Given the description of an element on the screen output the (x, y) to click on. 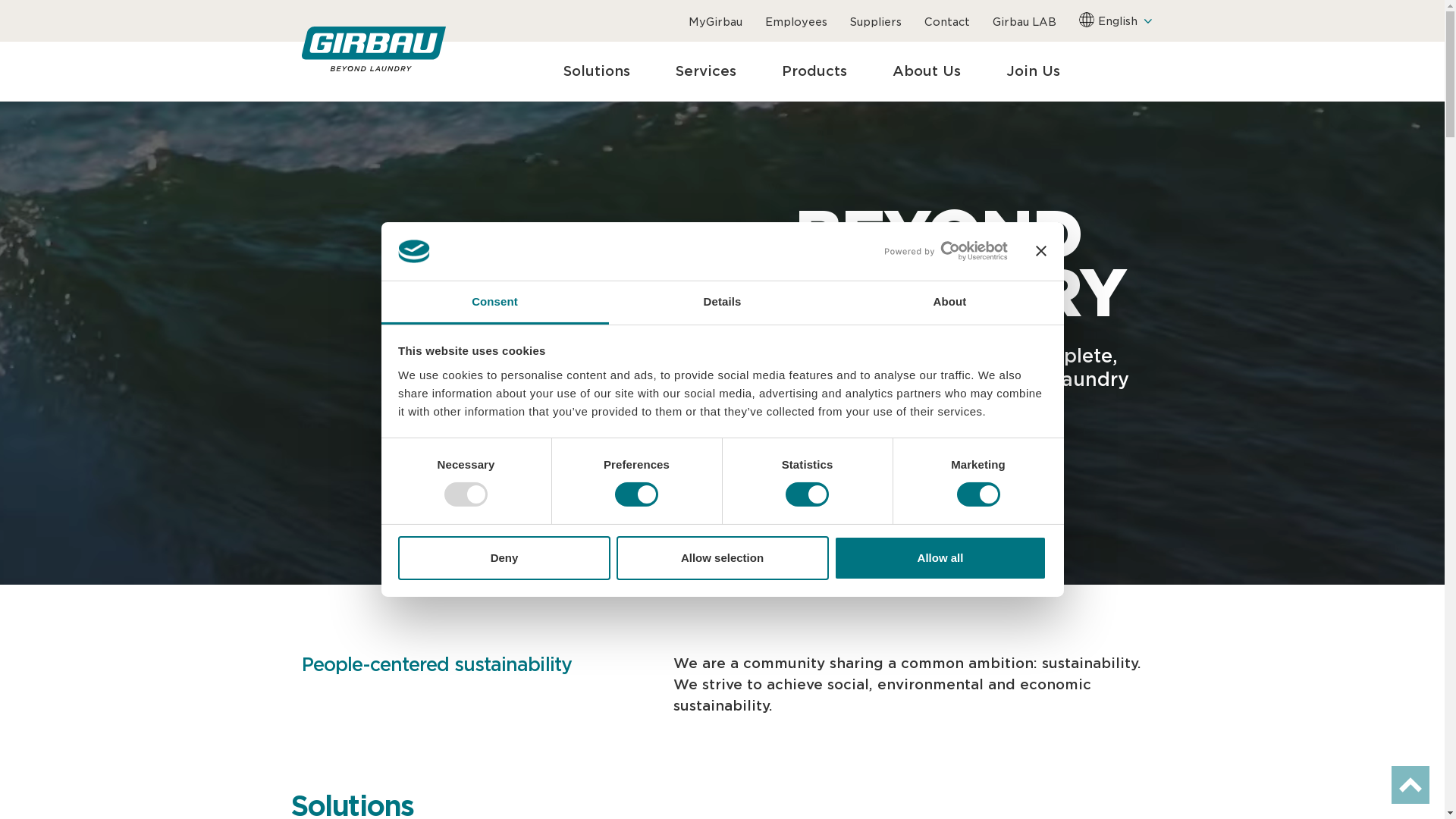
Products Element type: text (813, 70)
Suppliers Element type: text (874, 21)
English Element type: text (1125, 21)
Solutions Element type: text (595, 70)
About Element type: text (949, 302)
Employees Element type: text (795, 21)
Consent Element type: text (494, 302)
Details Element type: text (721, 302)
Allow all Element type: text (940, 558)
Deny Element type: text (504, 558)
Services Element type: text (705, 70)
Allow selection Element type: text (721, 558)
About Us Element type: text (925, 70)
English Element type: text (1085, 19)
Join Us Element type: text (1032, 70)
MyGirbau Element type: text (715, 21)
Contact Element type: text (946, 21)
Girbau LAB Element type: text (1023, 21)
